Given the description of an element on the screen output the (x, y) to click on. 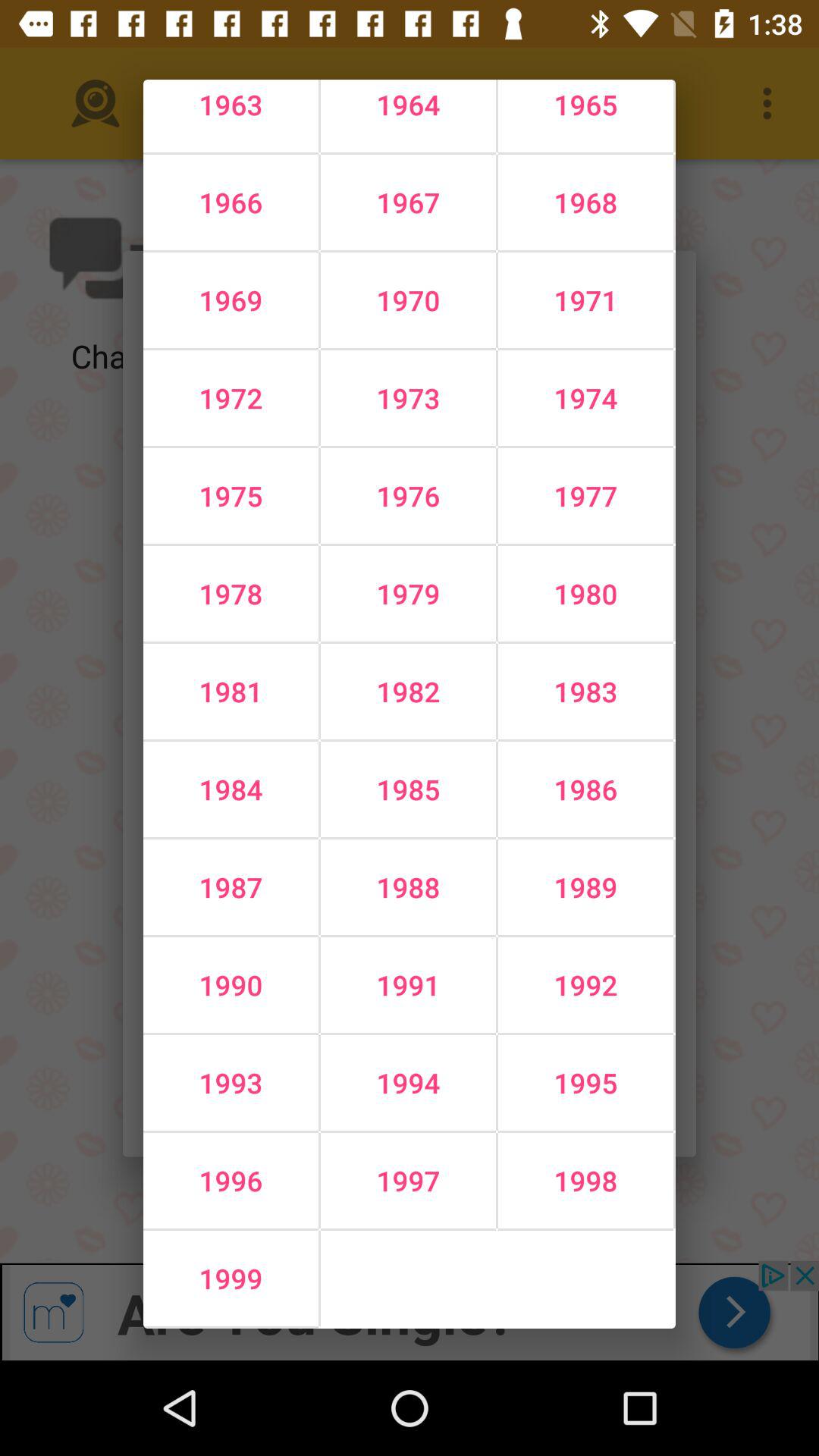
turn off the item next to the 1965 (407, 202)
